Given the description of an element on the screen output the (x, y) to click on. 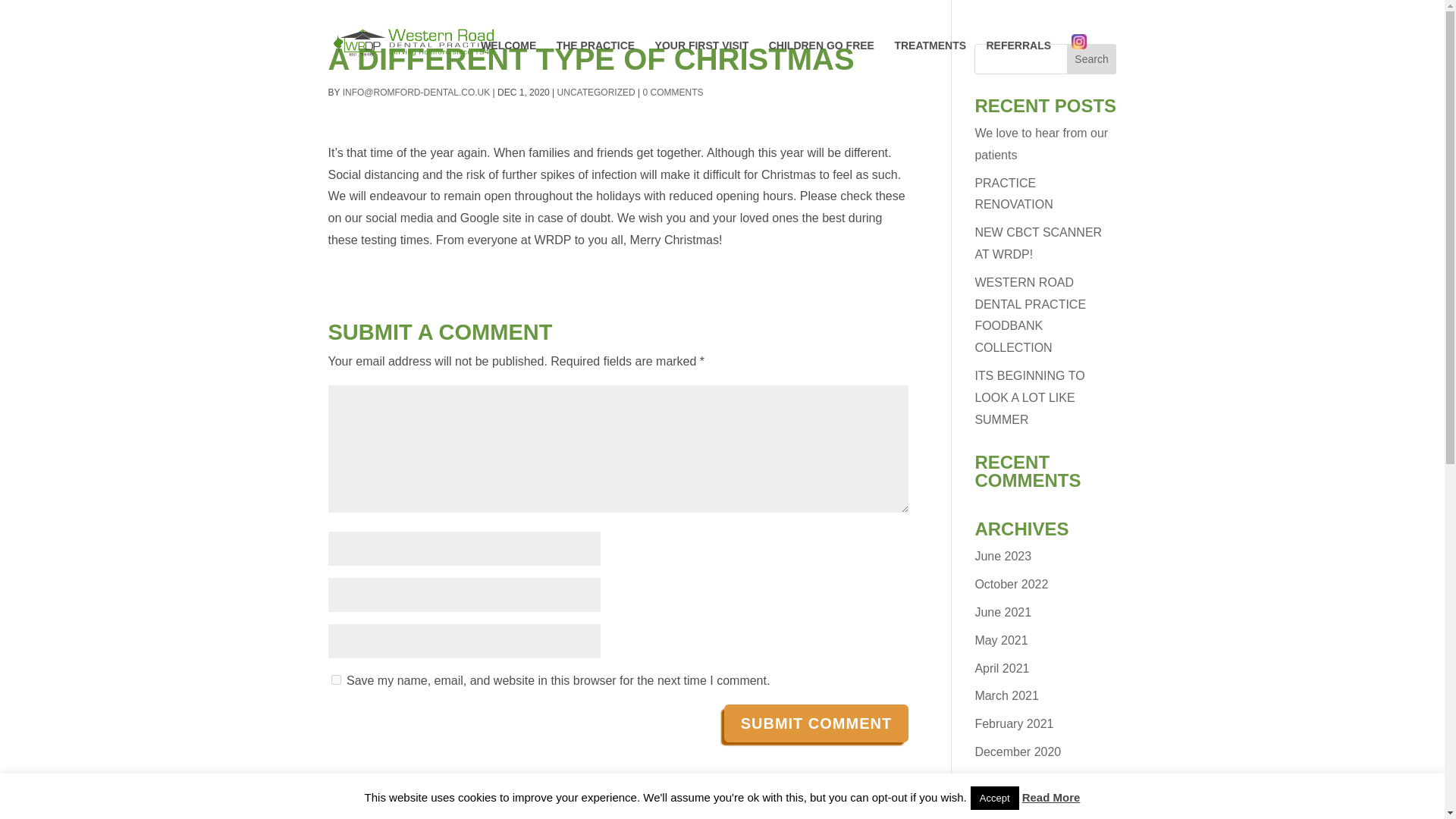
WESTERN ROAD DENTAL PRACTICE FOODBANK COLLECTION (1030, 314)
CHILDREN GO FREE (821, 62)
ITS BEGINNING TO LOOK A LOT LIKE SUMMER (1029, 397)
November 2020 (1017, 779)
REFERRALS (1018, 62)
We love to hear from our patients (1041, 143)
June 2023 (1002, 555)
0 COMMENTS (672, 91)
October 2020 (1011, 807)
Search (1091, 59)
October 2022 (1011, 584)
YOUR FIRST VISIT (702, 62)
February 2021 (1013, 723)
December 2020 (1017, 751)
WELCOME (507, 62)
